Given the description of an element on the screen output the (x, y) to click on. 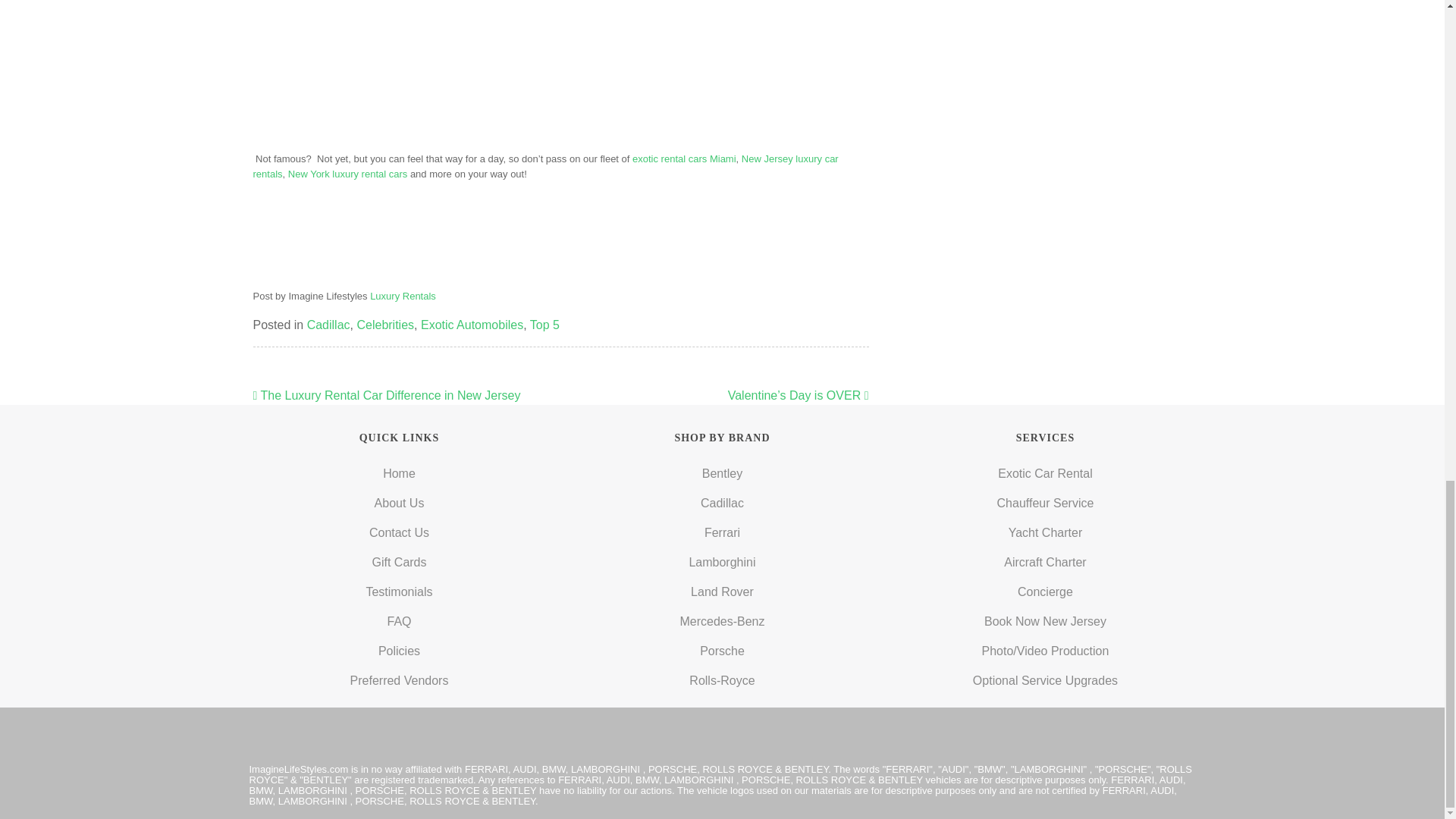
New Jersey luxury car rentals (545, 166)
Luxury Rentals (402, 296)
New York luxury rental cars (347, 173)
Celebrities (384, 324)
exotic rental cars Miami (683, 158)
Cadillac (328, 324)
